Given the description of an element on the screen output the (x, y) to click on. 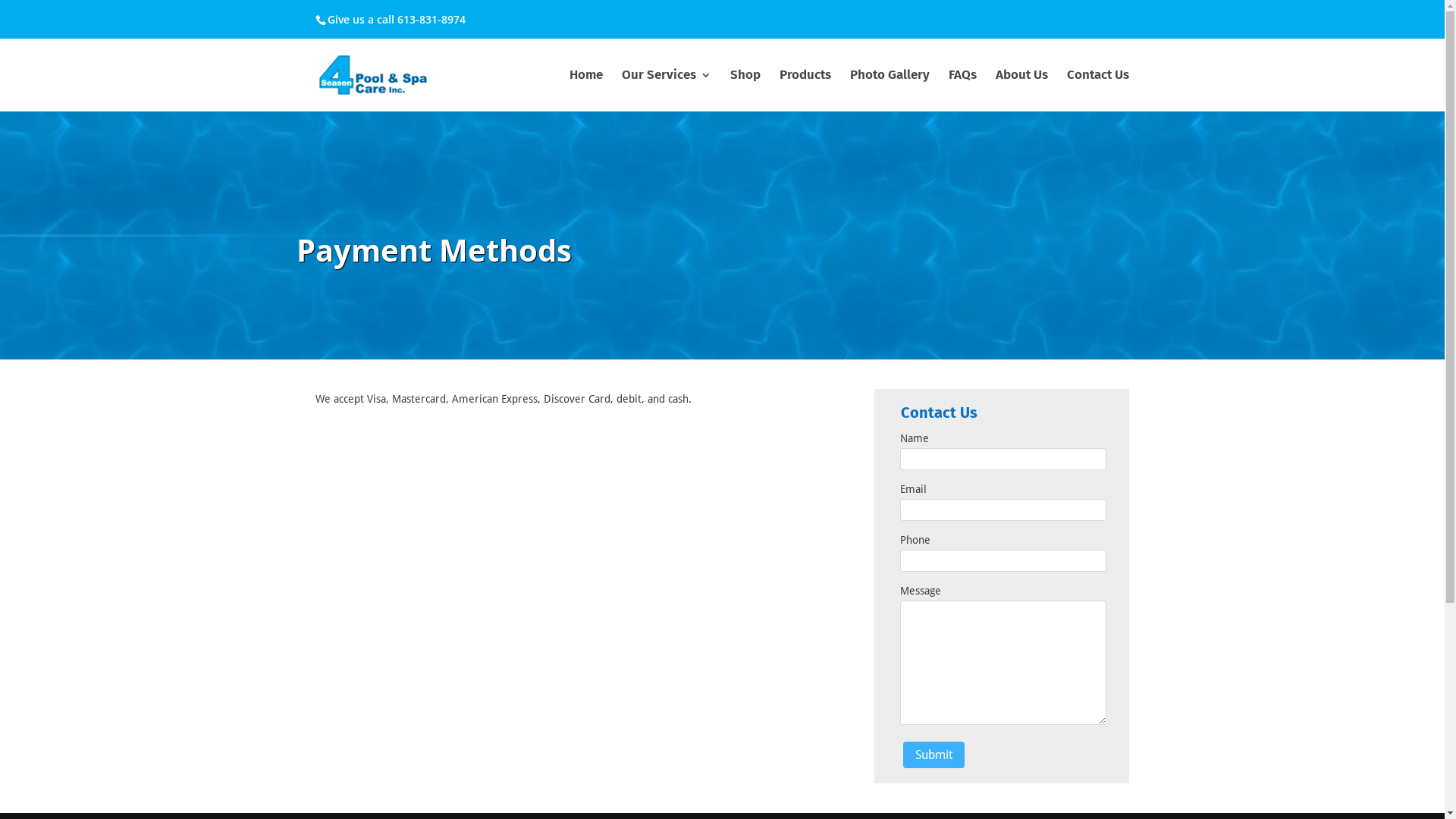
Our Services Element type: text (666, 90)
Photo Gallery Element type: text (889, 90)
Shop Element type: text (745, 90)
Instagram Element type: hover (1113, 22)
Contact Us Element type: text (1097, 90)
Facebook Element type: hover (1052, 22)
Products Element type: text (805, 90)
Submit Element type: text (933, 754)
Twitter Element type: hover (1083, 22)
Home Element type: text (585, 90)
About Us Element type: text (1021, 90)
FAQs Element type: text (962, 90)
